Given the description of an element on the screen output the (x, y) to click on. 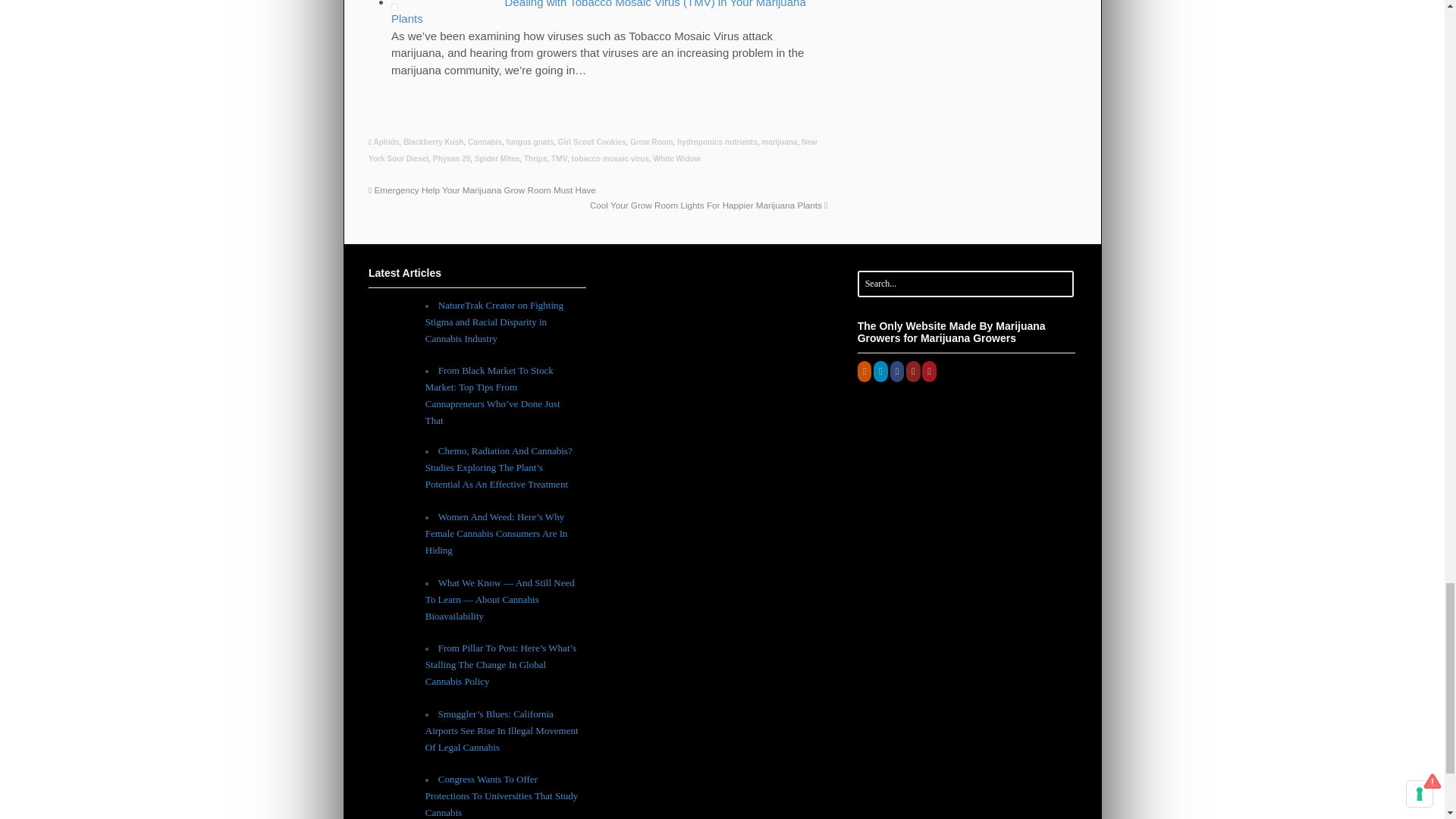
Aphids (385, 142)
Cannabis (484, 142)
fungus gnats (530, 142)
Search... (955, 283)
Girl Scout Cookies (591, 142)
Blackberry Kush (433, 142)
